Given the description of an element on the screen output the (x, y) to click on. 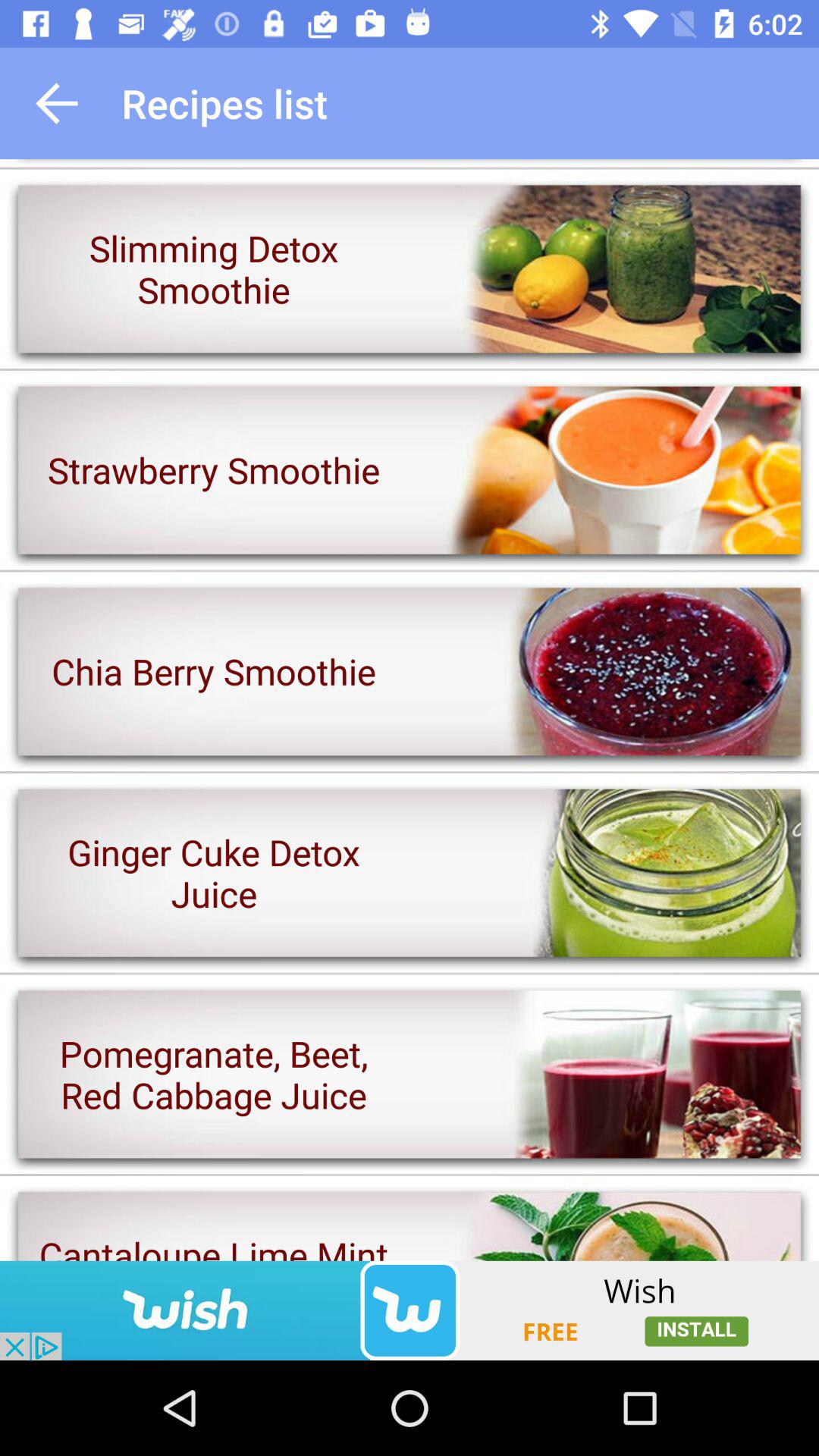
go back (56, 103)
